Given the description of an element on the screen output the (x, y) to click on. 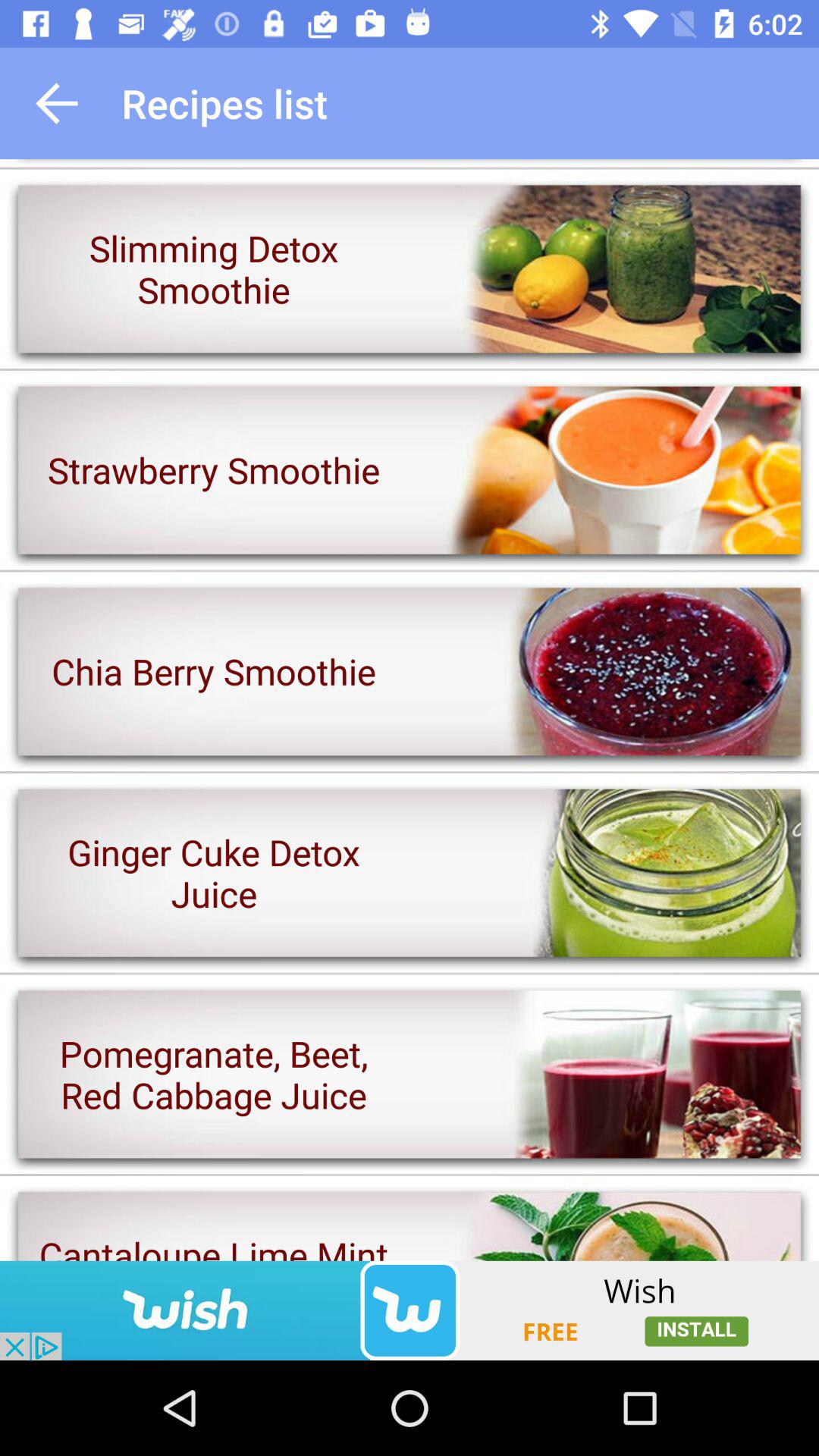
go back (56, 103)
